Given the description of an element on the screen output the (x, y) to click on. 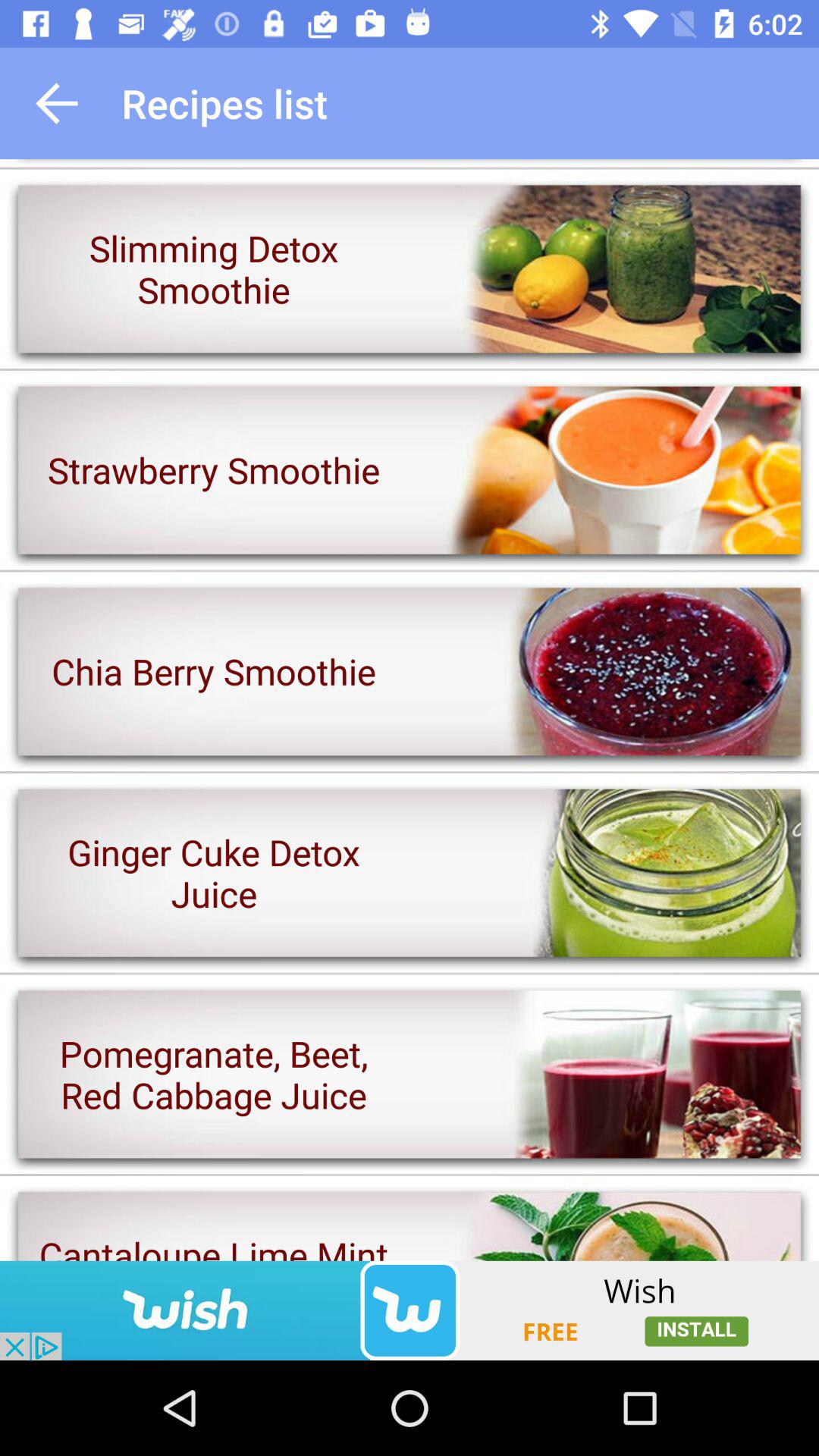
go back (56, 103)
